Given the description of an element on the screen output the (x, y) to click on. 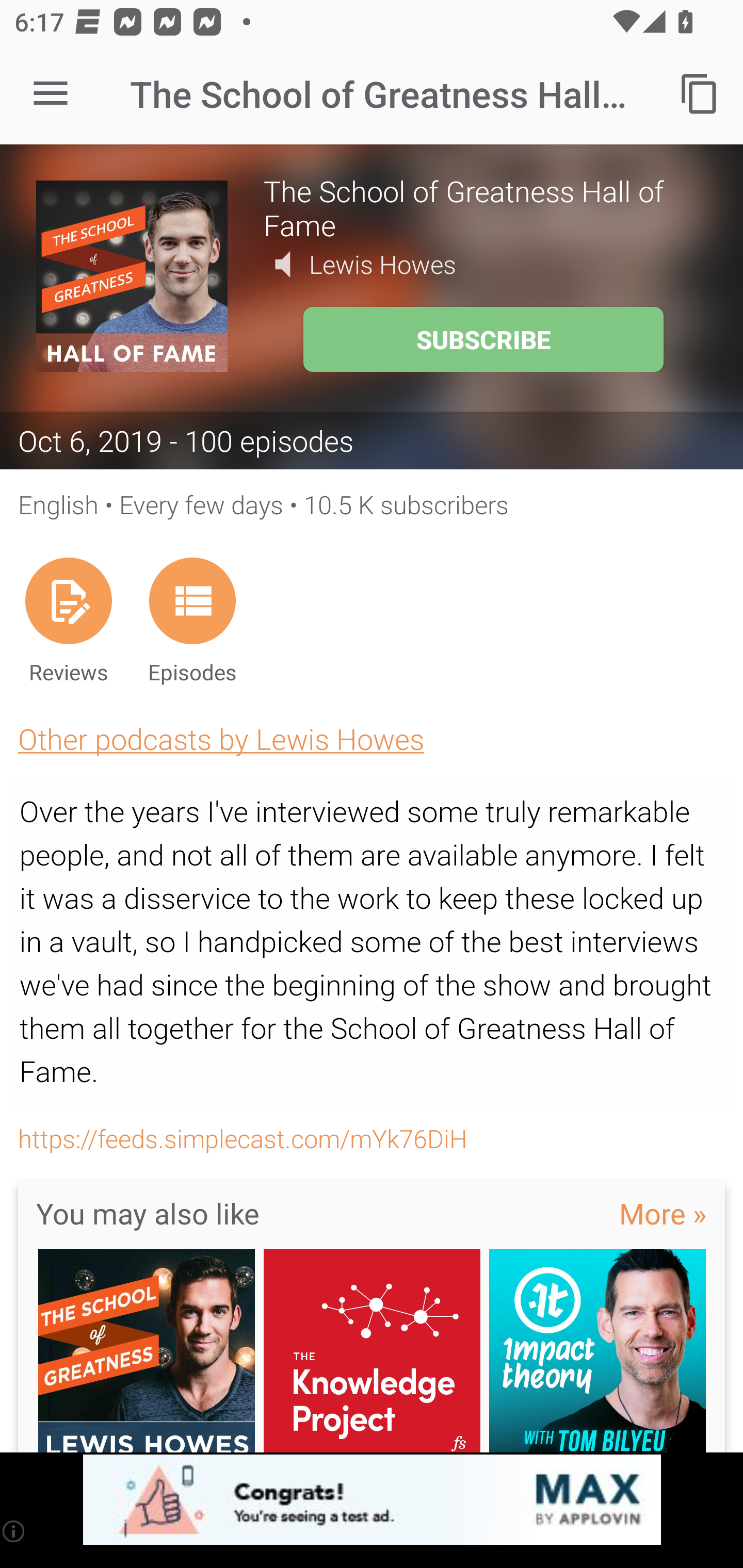
Open navigation sidebar (50, 93)
Copy feed url to clipboard (699, 93)
The School of Greatness Hall of Fame (484, 207)
SUBSCRIBE (483, 339)
Reviews (68, 619)
Episodes (192, 619)
Other podcasts by Lewis Howes (220, 738)
More » (662, 1212)
app-monetization (371, 1500)
(i) (14, 1531)
